Given the description of an element on the screen output the (x, y) to click on. 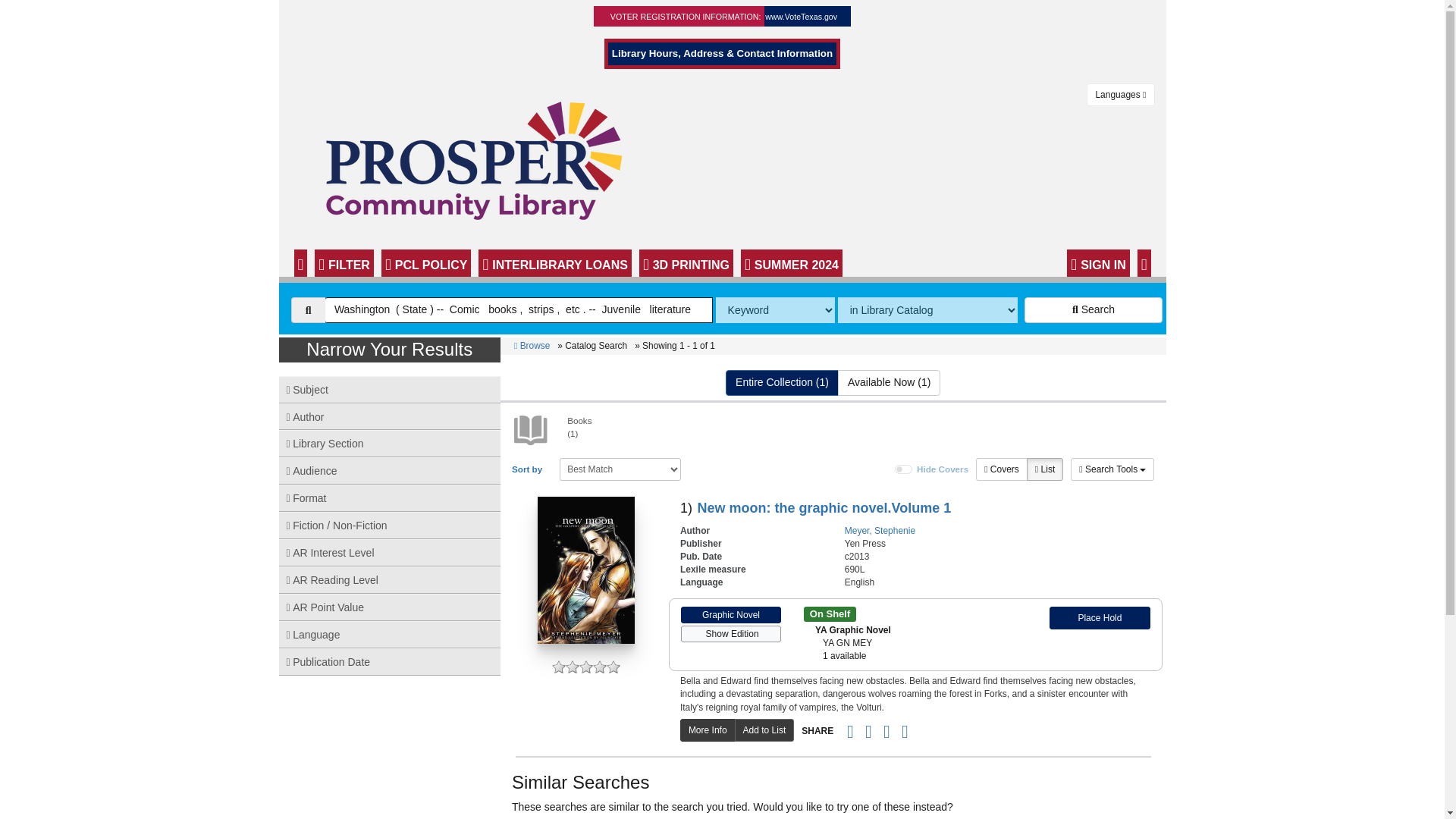
Login (1098, 262)
3D PRINTING (686, 262)
on (903, 469)
Library Home Page (483, 159)
INTERLIBRARY LOANS (554, 262)
Languages  (1120, 94)
www.VoteTexas.gov (801, 16)
FILTER (344, 262)
SIGN IN (1098, 262)
PCL POLICY (426, 262)
SUMMER 2024 (792, 262)
The method of searching. (775, 309)
 Search (1093, 309)
VOTER REGISTRATION INFORMATION:  (686, 16)
